Given the description of an element on the screen output the (x, y) to click on. 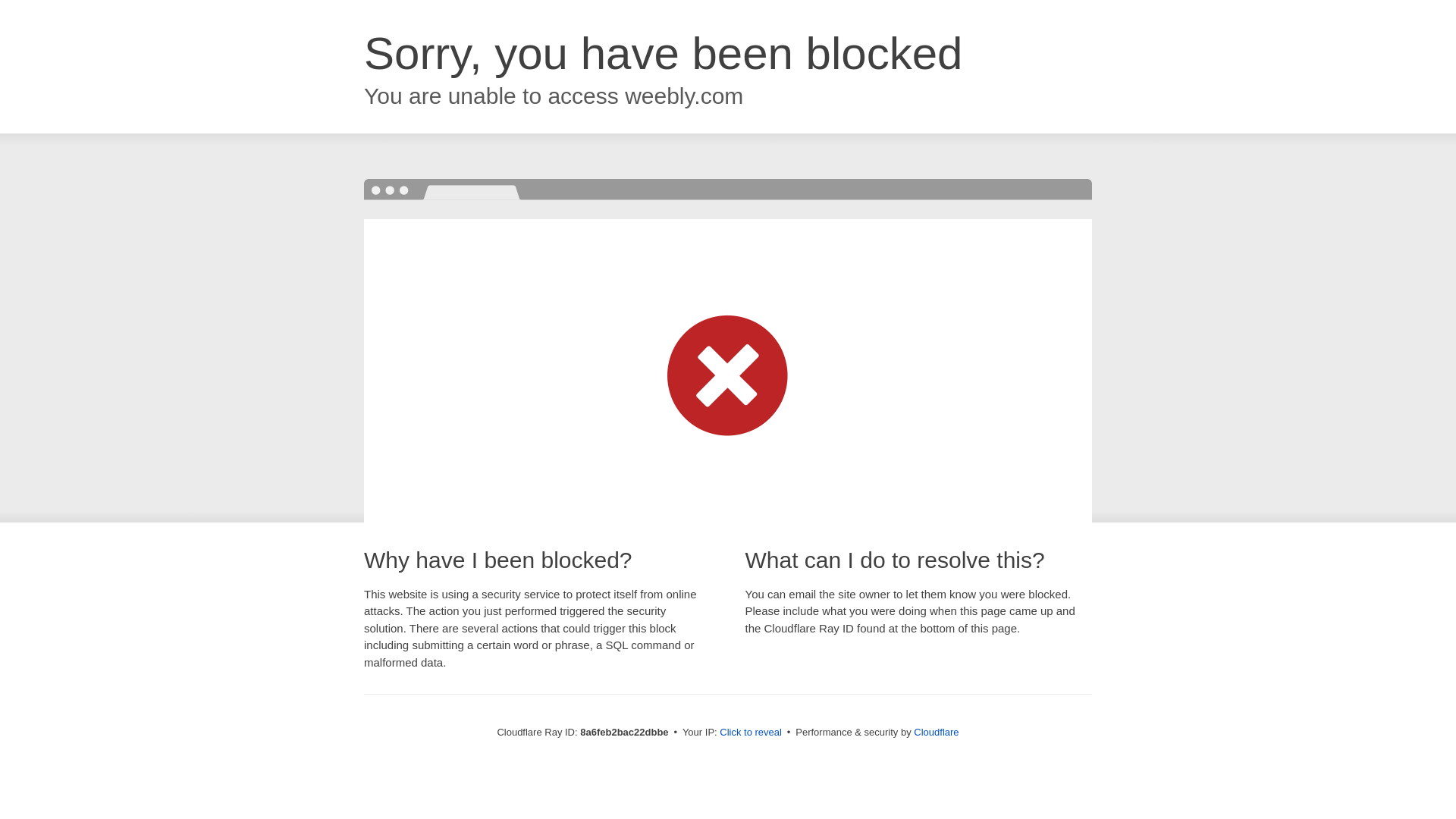
Click to reveal (750, 732)
Cloudflare (936, 731)
